Given the description of an element on the screen output the (x, y) to click on. 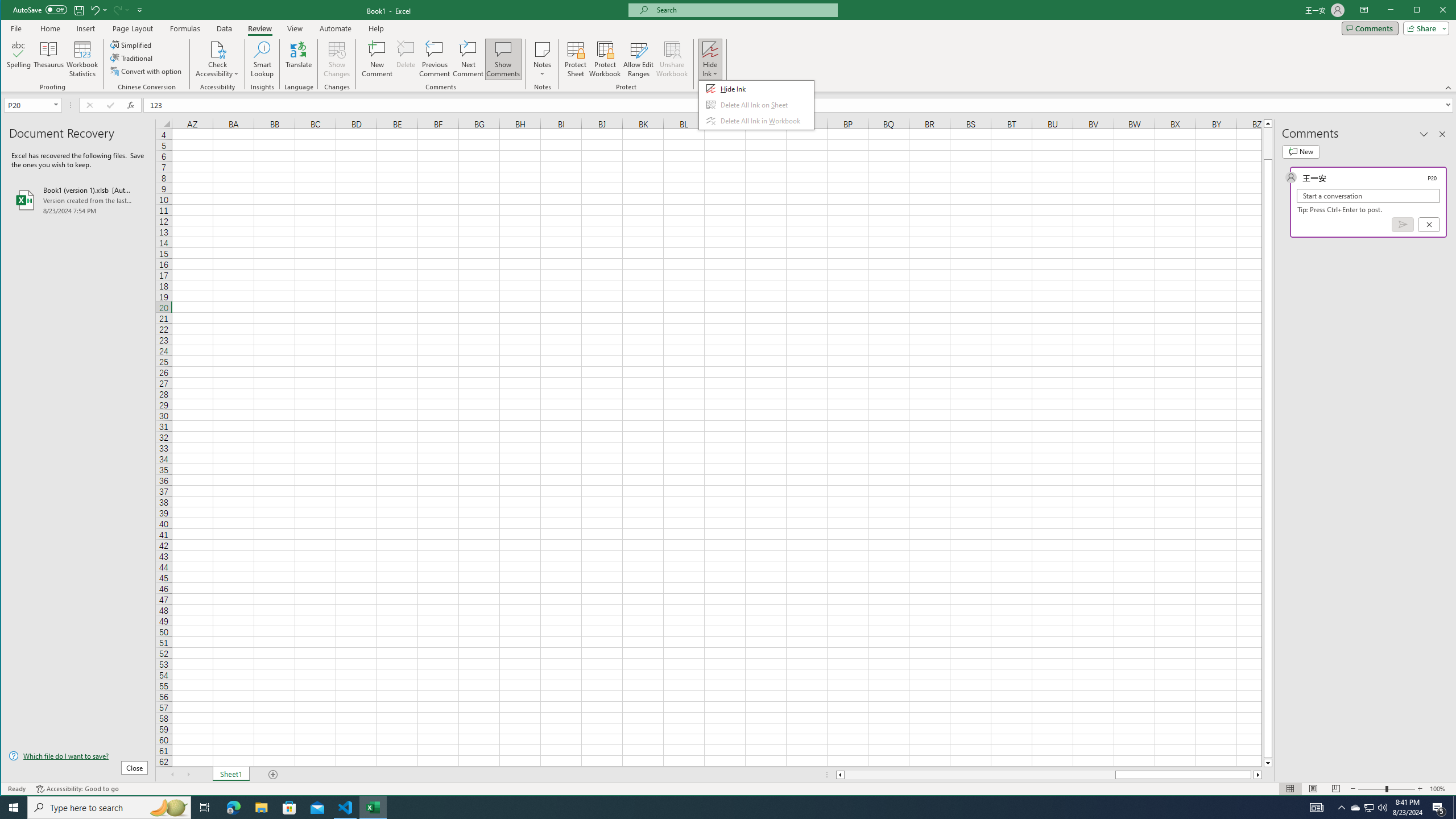
Post comment (Ctrl + Enter) (1402, 224)
Running applications (717, 807)
Excel - 1 running window (373, 807)
Translate (298, 59)
Protect Workbook... (604, 59)
